Given the description of an element on the screen output the (x, y) to click on. 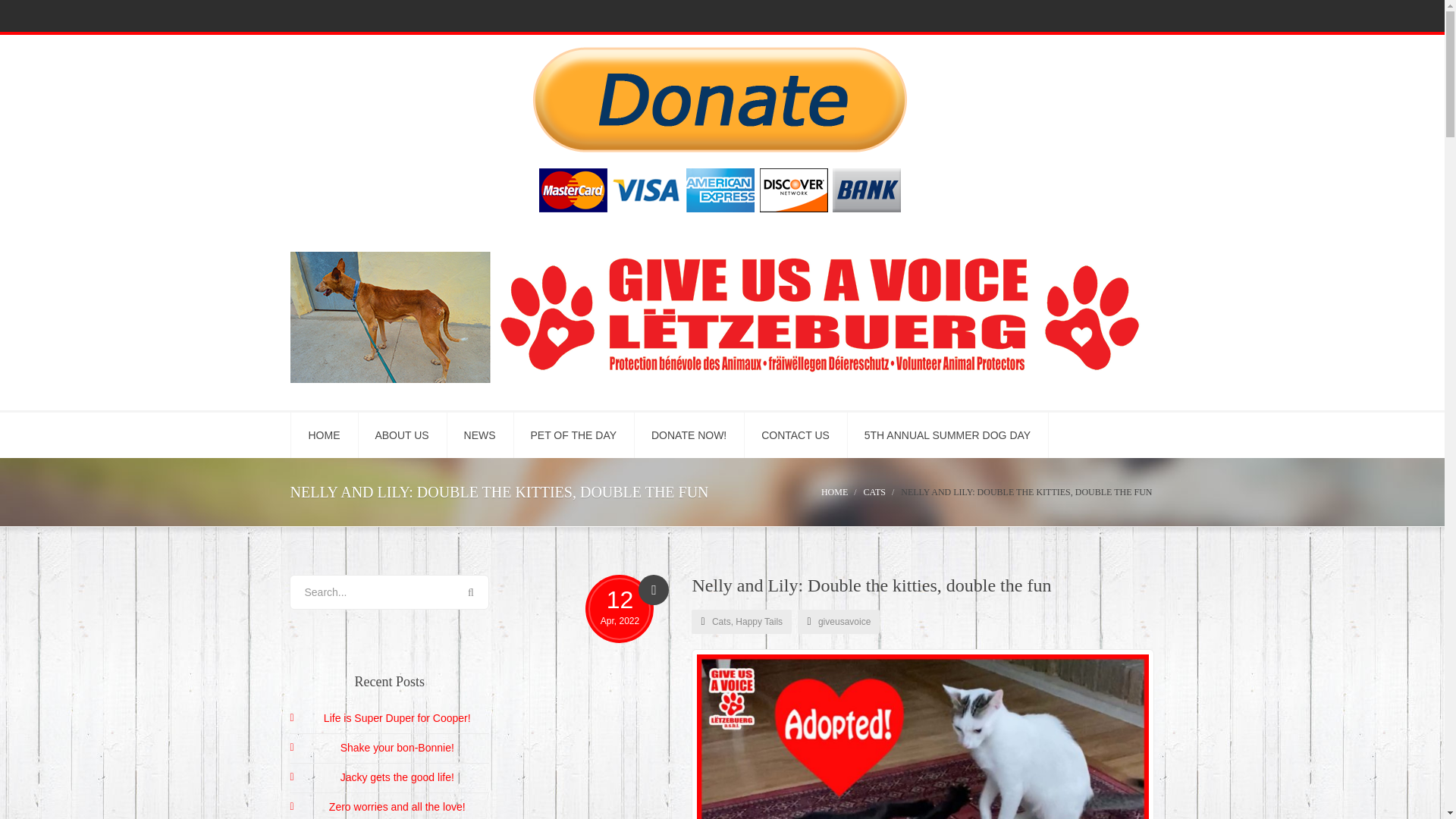
CATS (874, 491)
giveusavoice (844, 621)
Cats (720, 621)
ABOUT US (401, 434)
HOME (323, 434)
PET OF THE DAY (573, 434)
NEWS (479, 434)
Shake your bon-Bonnie! (397, 747)
Zero worries and all the love! (397, 806)
Happy Tails (759, 621)
5TH ANNUAL SUMMER DOG DAY (947, 434)
Life is Super Duper for Cooper! (396, 717)
CONTACT US (795, 434)
DONATE NOW! (688, 434)
Jacky gets the good life! (397, 776)
